Given the description of an element on the screen output the (x, y) to click on. 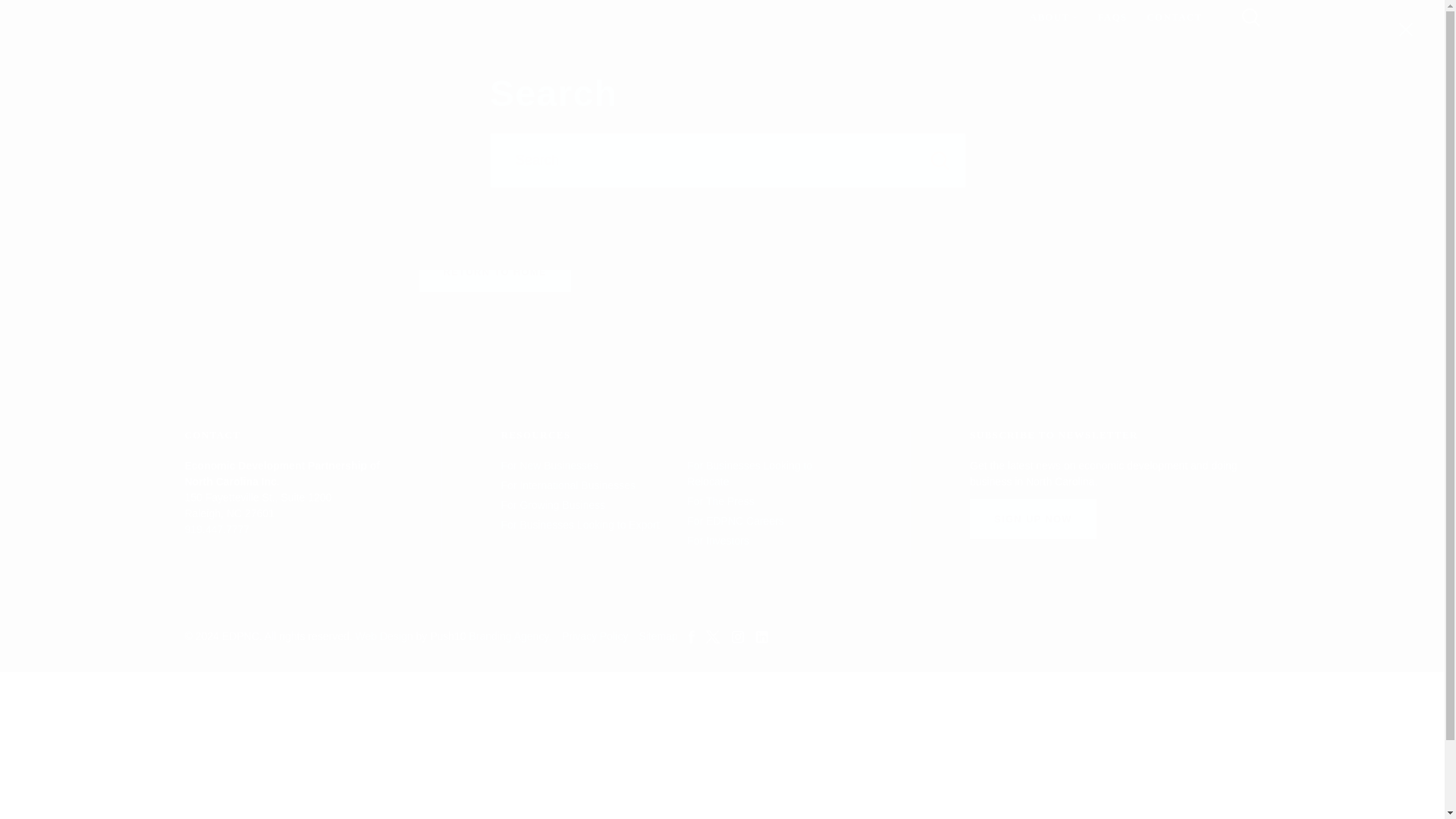
FAQS (1111, 16)
Why NC? (537, 31)
Incentives (614, 31)
Search (940, 160)
Find A Site (770, 31)
CONTACT (1174, 16)
Close (1405, 29)
Open Menu (1250, 16)
ABOUT (1053, 16)
Industries (691, 31)
